Given the description of an element on the screen output the (x, y) to click on. 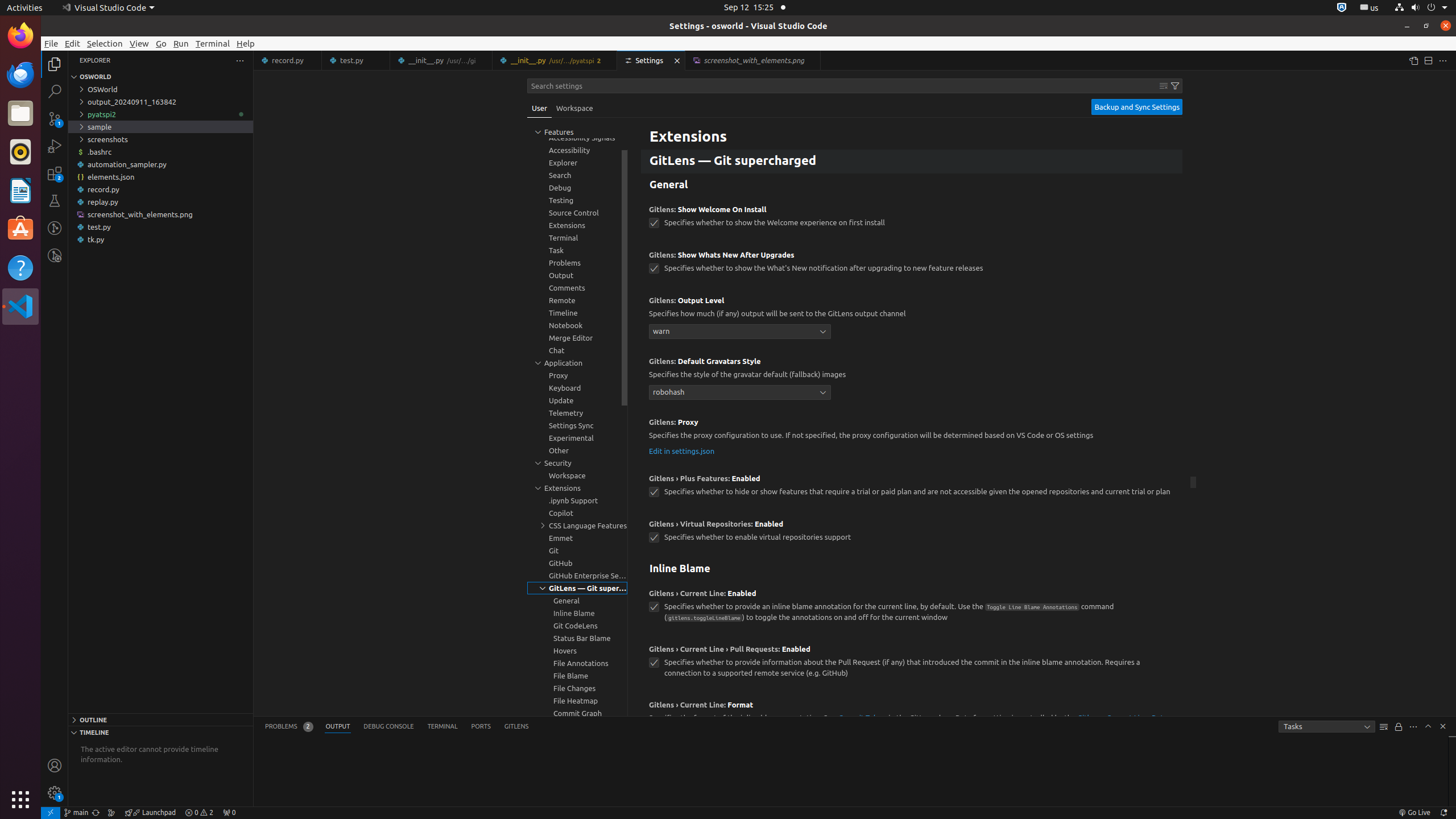
Terminal, group Element type: tree-item (577, 237)
File Blame, group Element type: tree-item (577, 675)
broadcast Go Live, Click to run live server Element type: push-button (1414, 812)
